Given the description of an element on the screen output the (x, y) to click on. 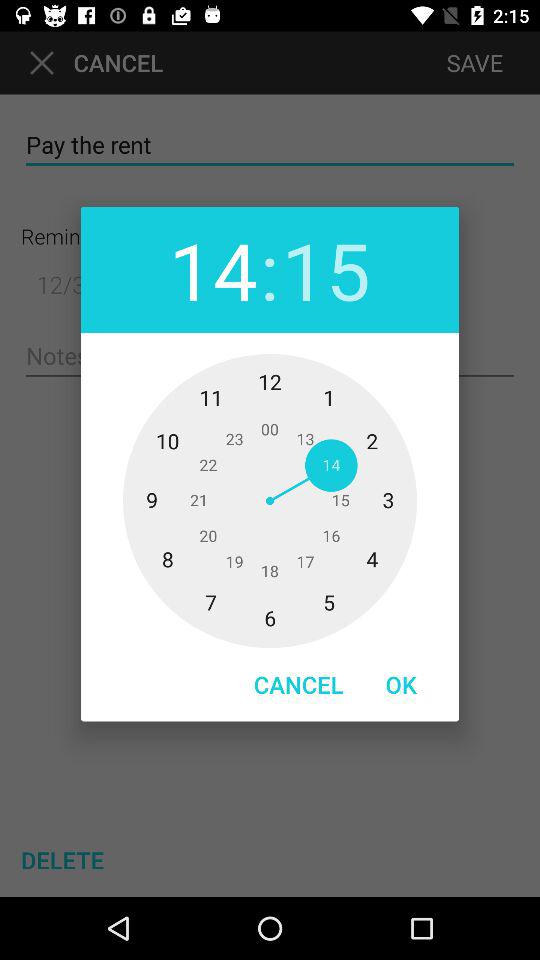
open the icon next to : item (213, 269)
